Given the description of an element on the screen output the (x, y) to click on. 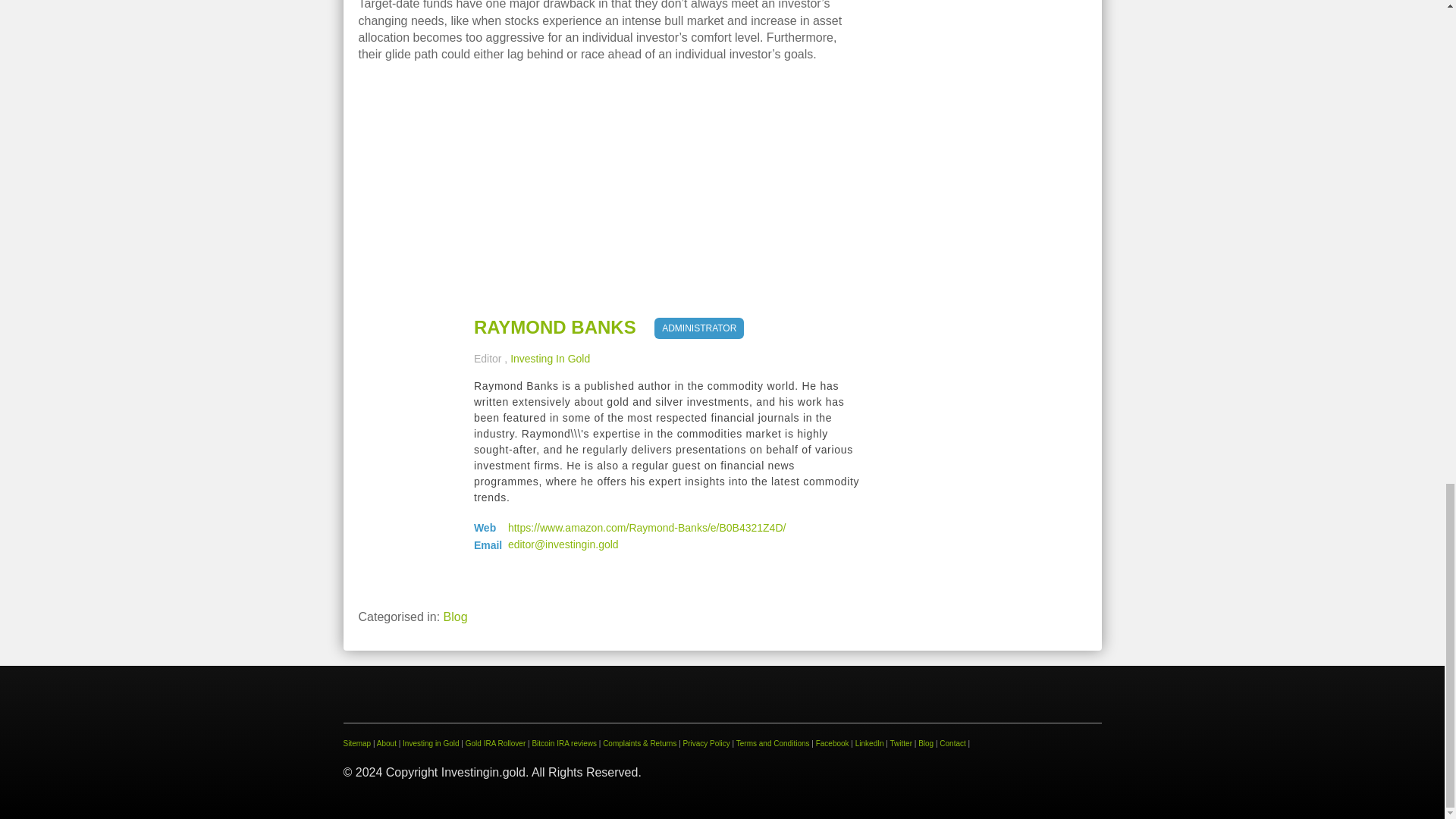
Investing in Gold (431, 743)
Contact (952, 743)
Gold IRA Rollover (495, 743)
Terms and Conditions (772, 743)
Privacy Policy (706, 743)
Facebook (831, 743)
Twitter (900, 743)
LinkedIn (869, 743)
Blog (925, 743)
About (386, 743)
Bitcoin IRA reviews (563, 743)
Blog (455, 616)
RAYMOND BANKS (555, 327)
Investing In Gold (550, 358)
Sitemap (356, 743)
